Given the description of an element on the screen output the (x, y) to click on. 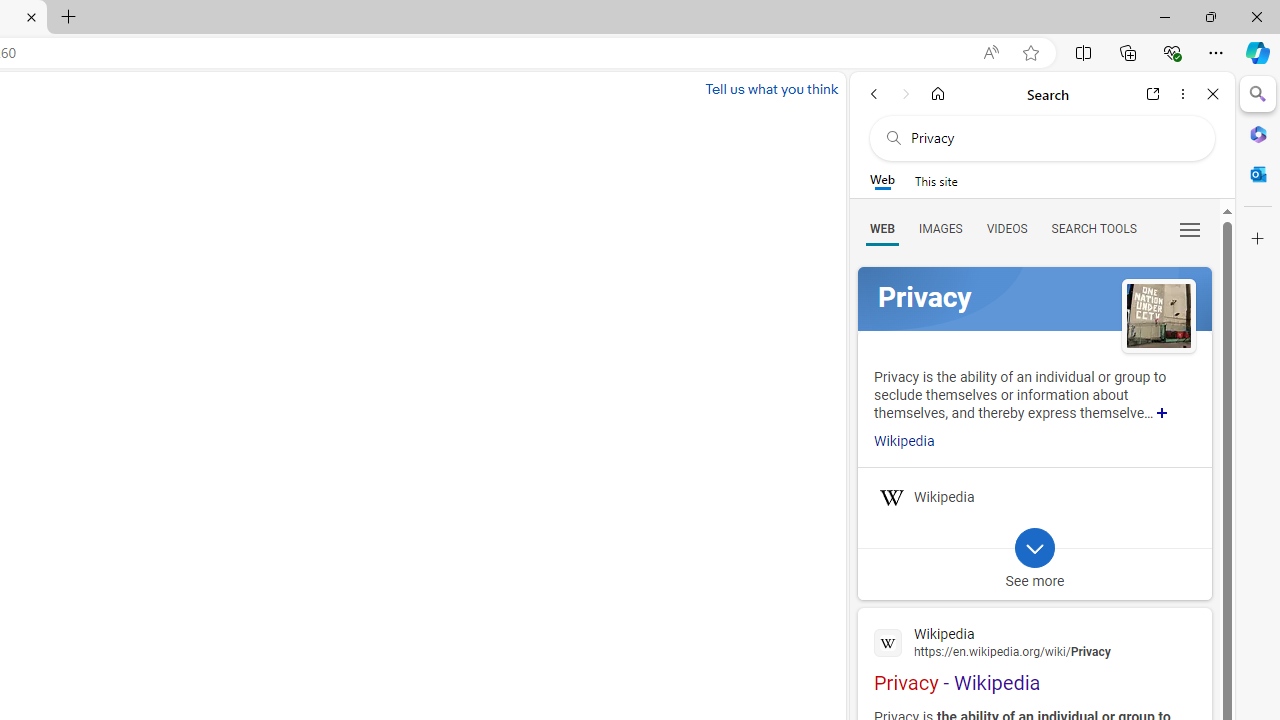
See more images of Privacy (1158, 315)
Privacy - Wikipedia (1034, 657)
Class: spl_logobg (1034, 299)
Search Filter, IMAGES (939, 228)
Search Filter, VIDEOS (1006, 228)
Global web icon (888, 642)
